Given the description of an element on the screen output the (x, y) to click on. 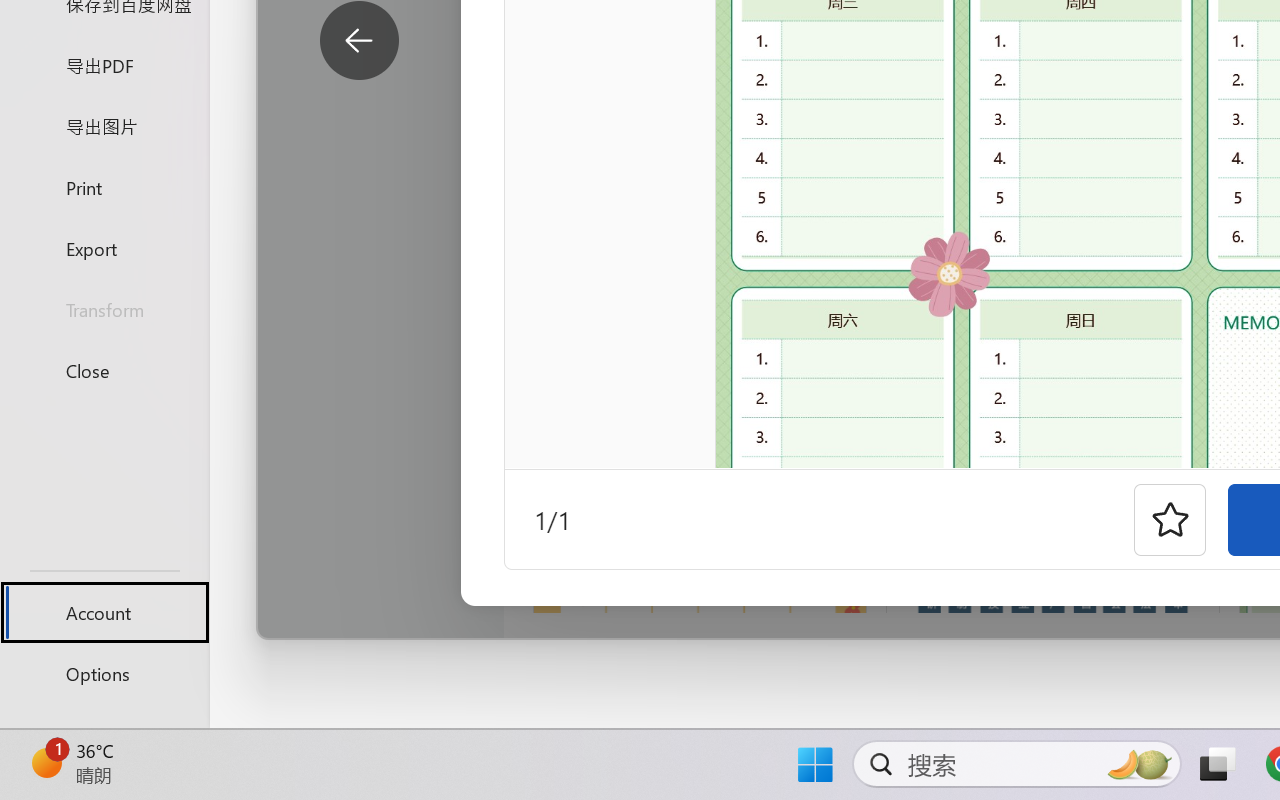
Options (104, 673)
Account (104, 612)
Print (104, 186)
Export (104, 248)
Transform (104, 309)
